Given the description of an element on the screen output the (x, y) to click on. 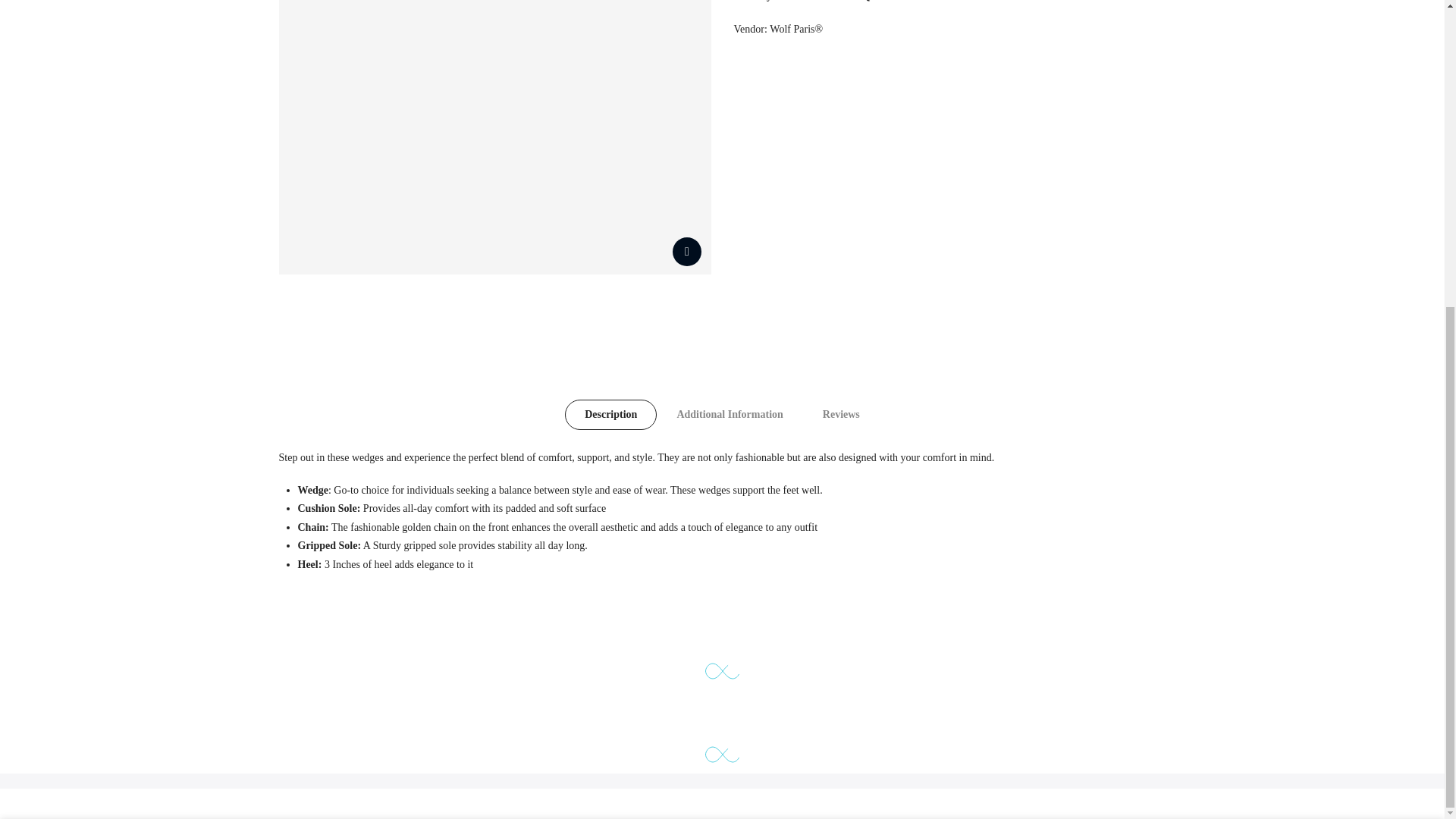
Additional Information (729, 414)
1 (1001, 371)
Ask a Question (867, 0)
Reviews (841, 414)
Description (610, 414)
